Given the description of an element on the screen output the (x, y) to click on. 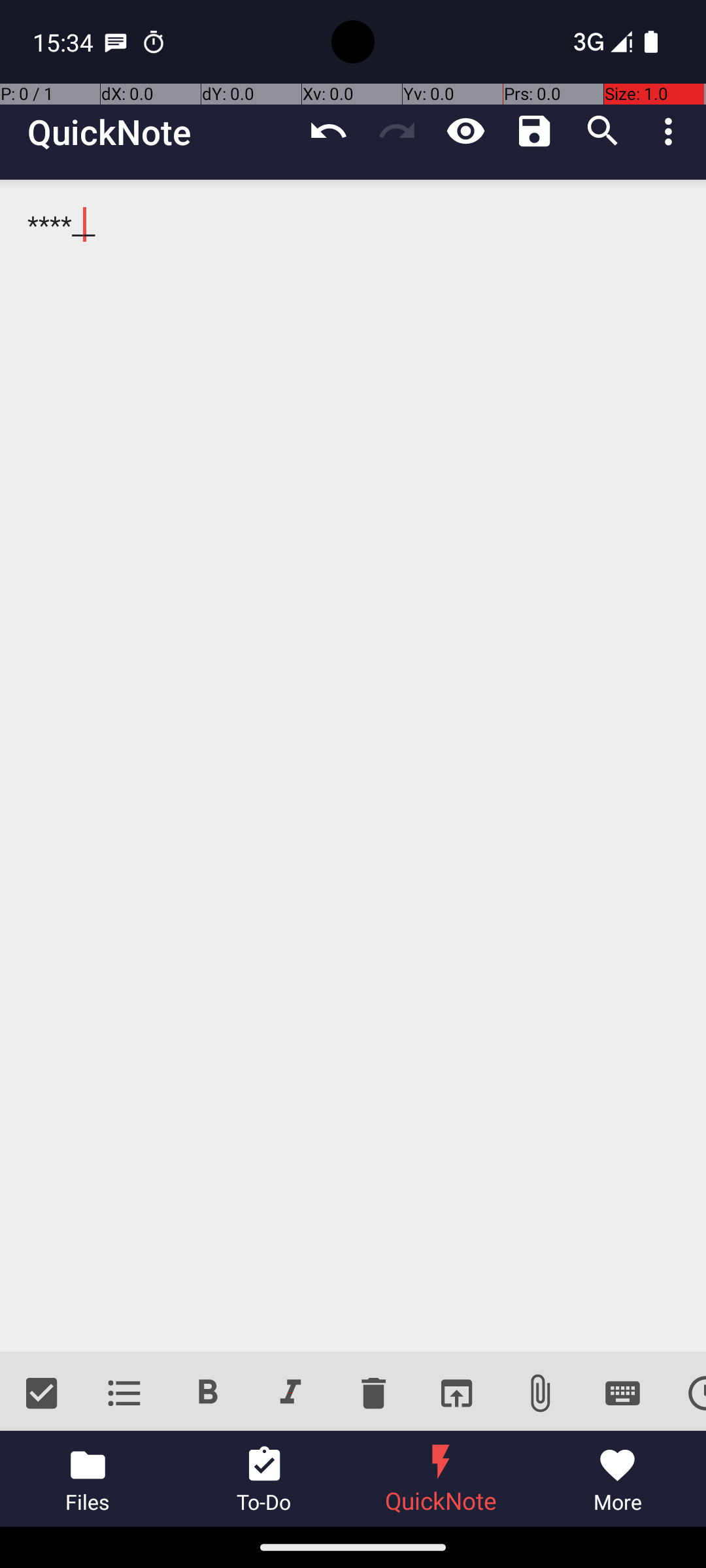
****__ Element type: android.widget.EditText (353, 765)
